Given the description of an element on the screen output the (x, y) to click on. 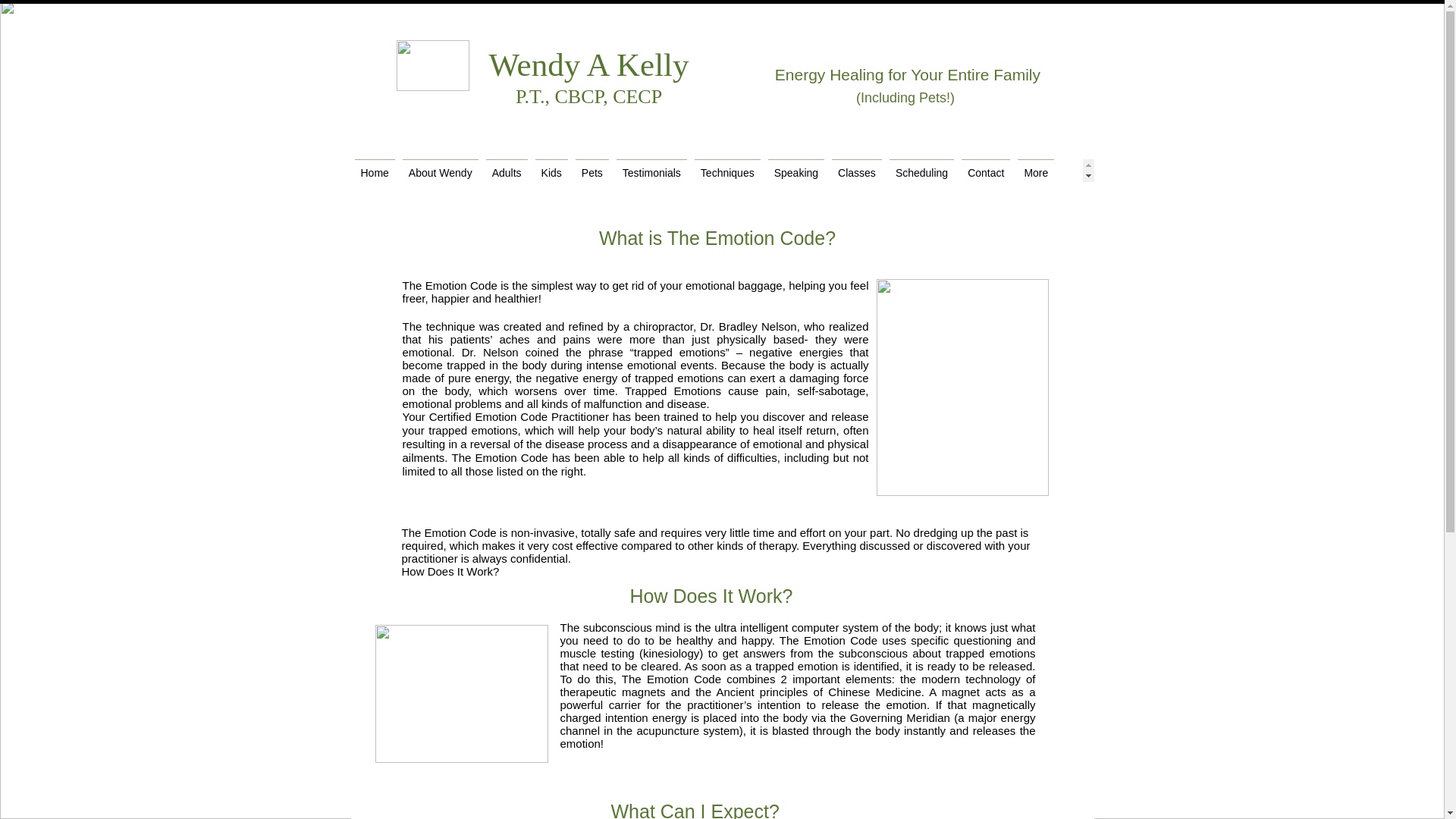
About Wendy (439, 169)
Kids (551, 169)
Contact (985, 169)
Speaking (796, 169)
Adults (506, 169)
Testimonials (651, 169)
Pets (592, 169)
Scheduling (921, 169)
Home (373, 169)
Classes (856, 169)
